Given the description of an element on the screen output the (x, y) to click on. 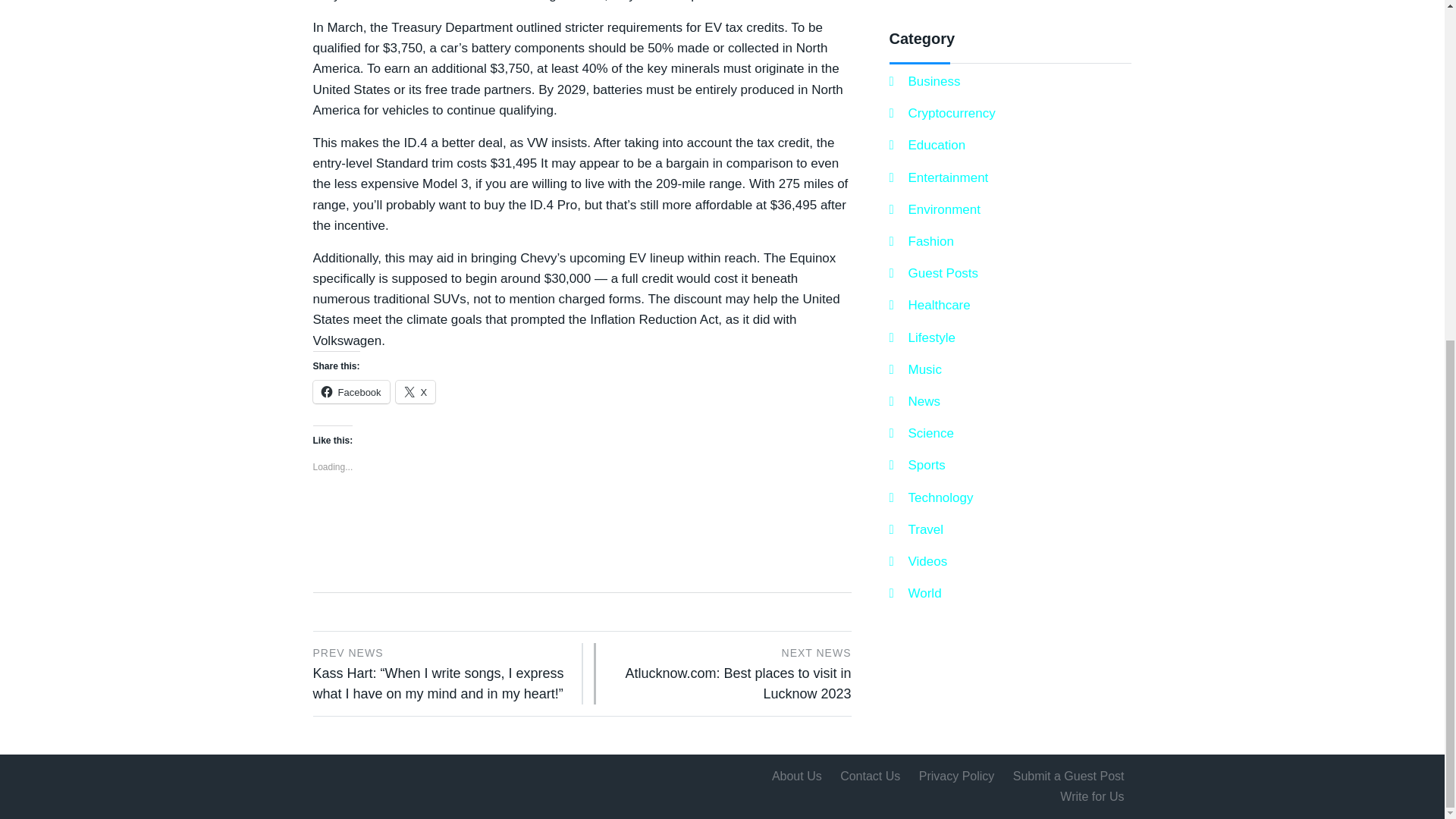
Cryptocurrency (941, 113)
Healthcare (928, 304)
Entertainment (938, 177)
Click to share on X (415, 391)
Guest Posts (933, 272)
Business (923, 81)
Facebook (350, 391)
Education (926, 145)
Fashion (920, 240)
Environment (933, 209)
Music (914, 369)
Click to share on Facebook (350, 391)
Like or Reblog (581, 517)
News (914, 401)
X (415, 391)
